Given the description of an element on the screen output the (x, y) to click on. 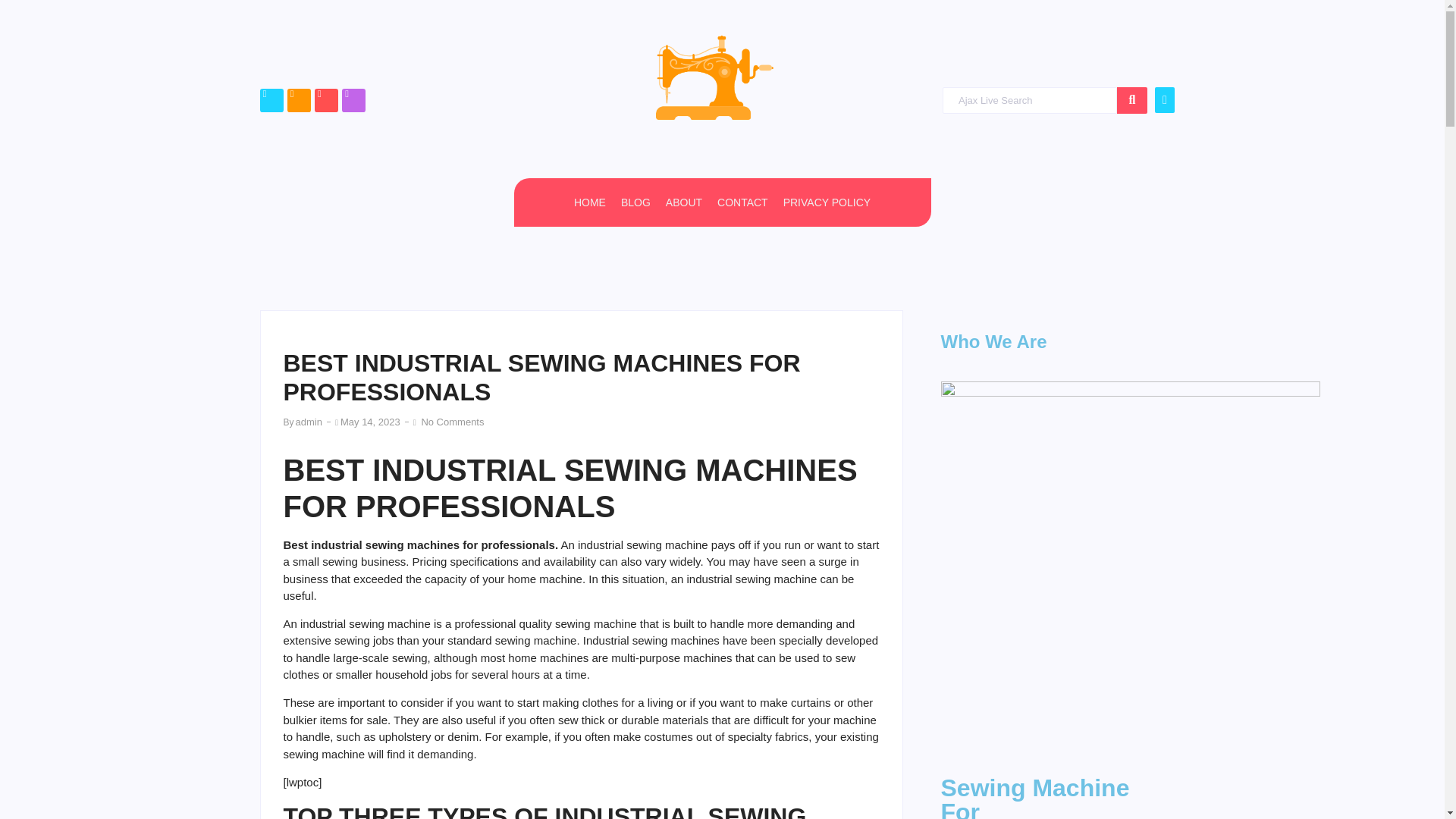
Search (1029, 99)
ABOUT (683, 202)
No Comments (451, 421)
CONTACT (742, 202)
PRIVACY POLICY (826, 202)
HOME (589, 202)
Admin (308, 421)
